Given the description of an element on the screen output the (x, y) to click on. 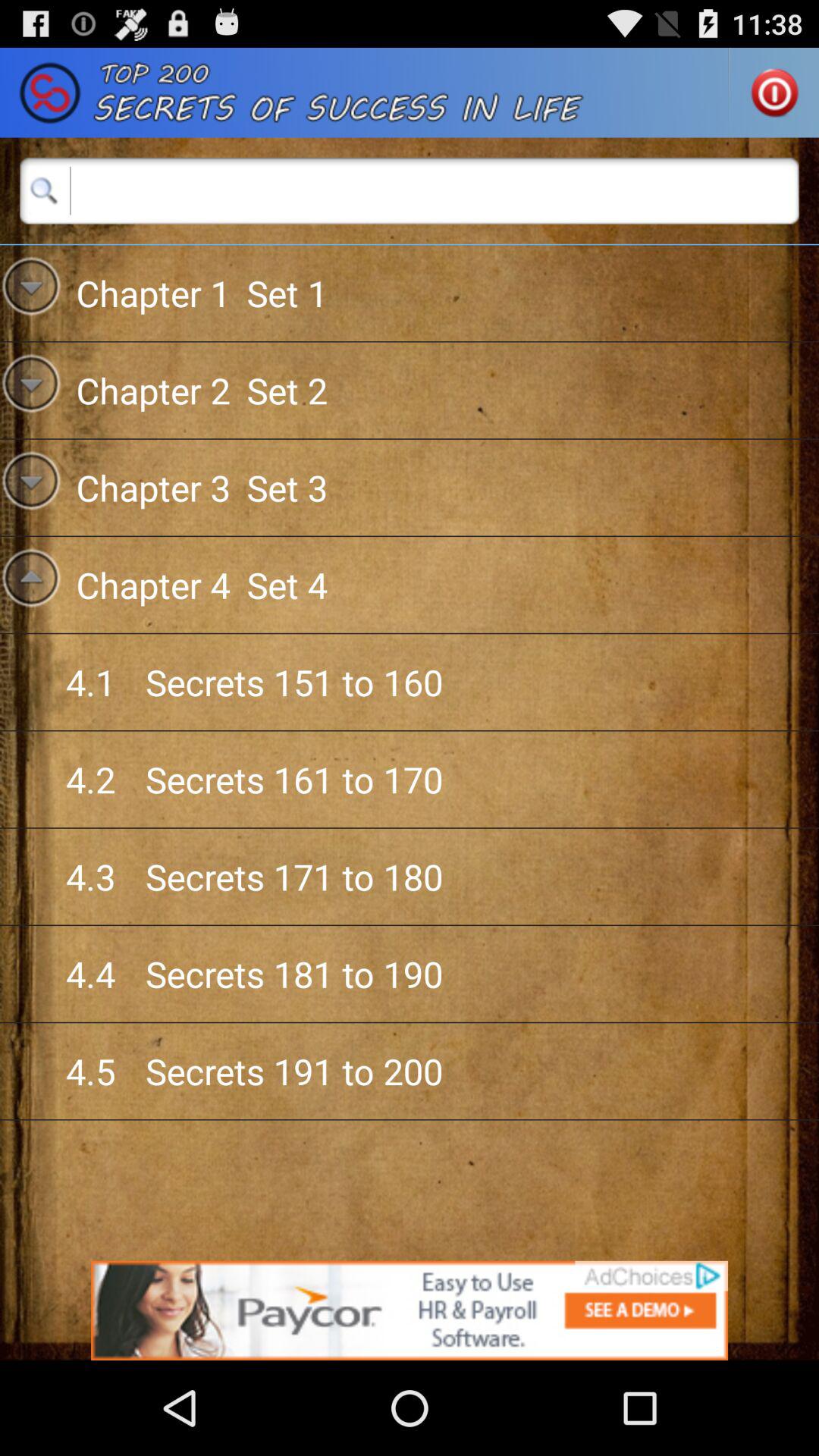
toggle the search option (409, 190)
